Given the description of an element on the screen output the (x, y) to click on. 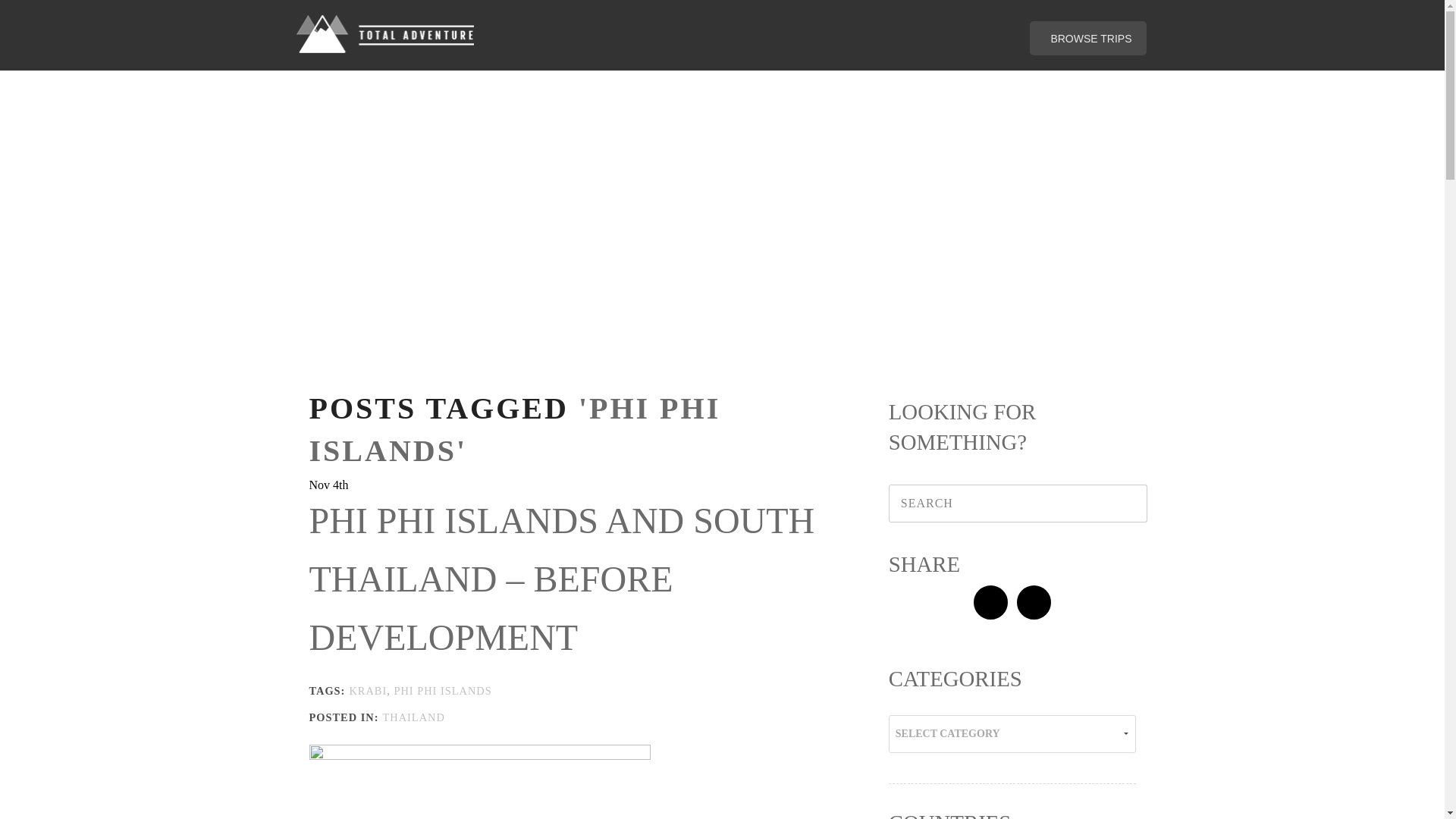
KRABI (368, 690)
BROWSE TRIPS (1088, 38)
Search (1122, 503)
THAILAND (412, 717)
PHI PHI ISLANDS (442, 690)
img042 (479, 780)
Search for: (1011, 503)
